Given the description of an element on the screen output the (x, y) to click on. 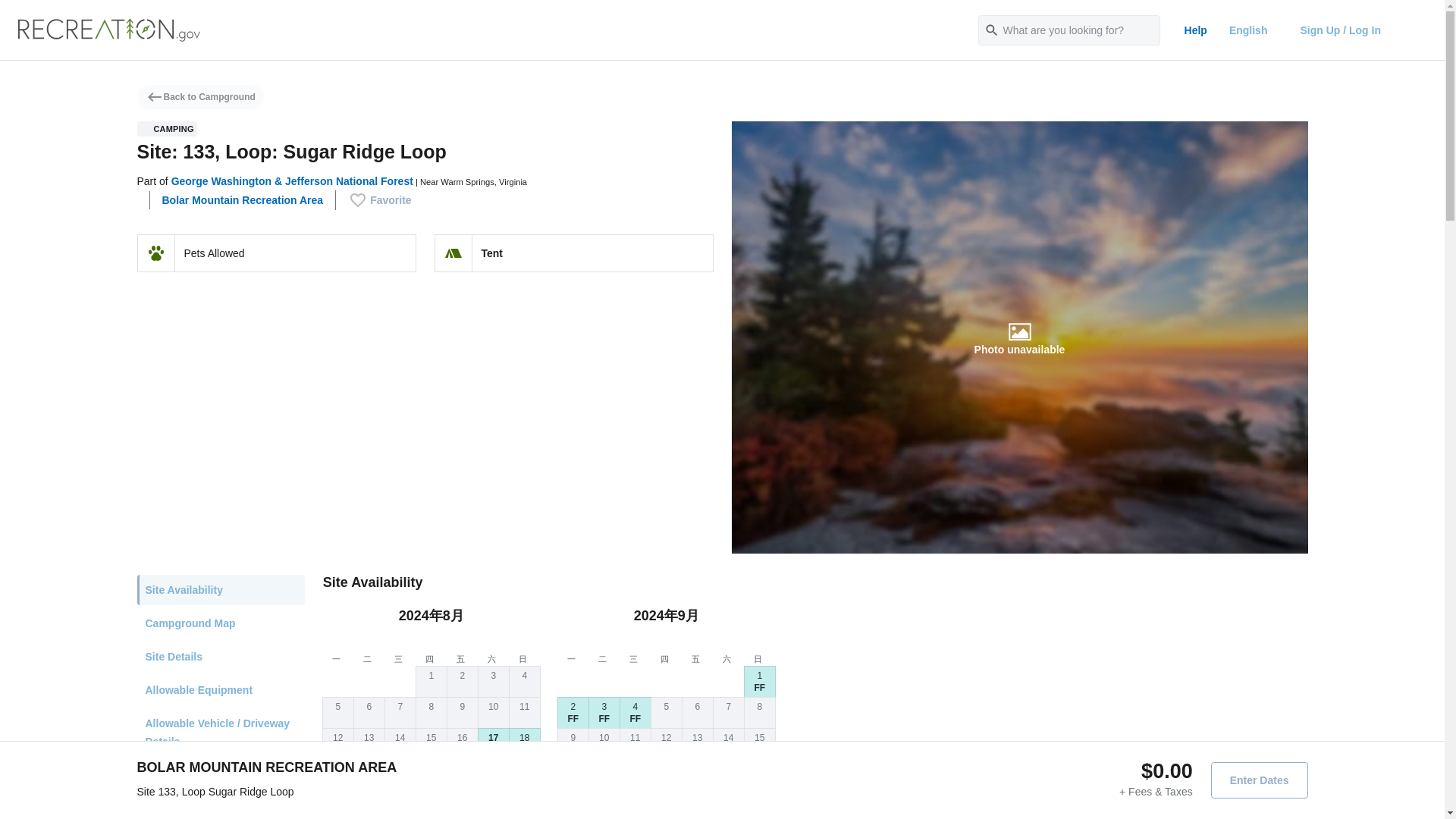
Bolar Mountain Recreation Area (242, 200)
English (1254, 30)
Back to Campground (199, 96)
Enter Dates (1259, 780)
Allowable Equipment (220, 689)
Campground Map (220, 623)
Amenities (220, 775)
Site Details (220, 656)
Need to Know (220, 806)
Help (1194, 30)
